Given the description of an element on the screen output the (x, y) to click on. 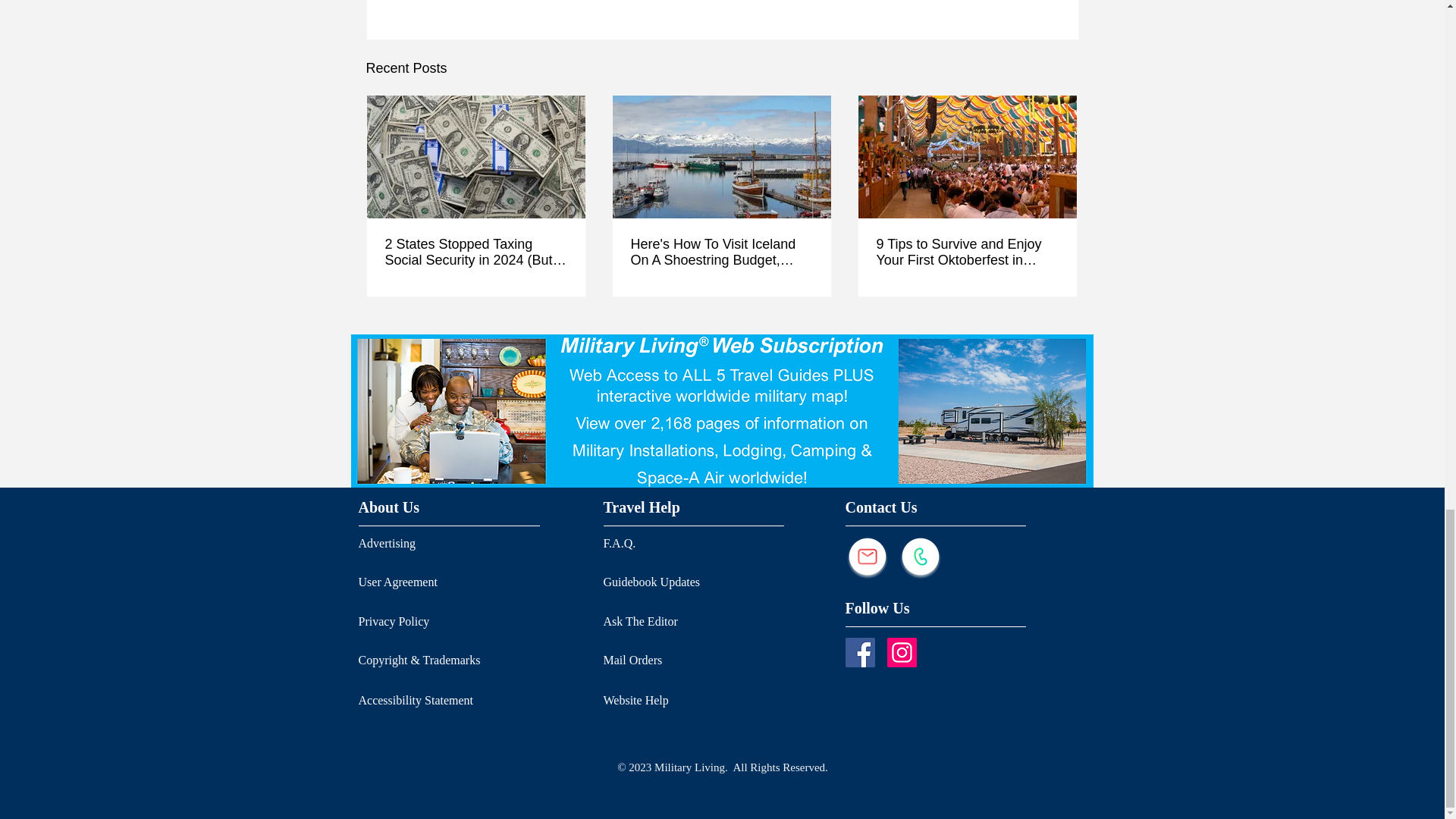
9 Tips to Survive and Enjoy Your First Oktoberfest in Munich (967, 252)
